Given the description of an element on the screen output the (x, y) to click on. 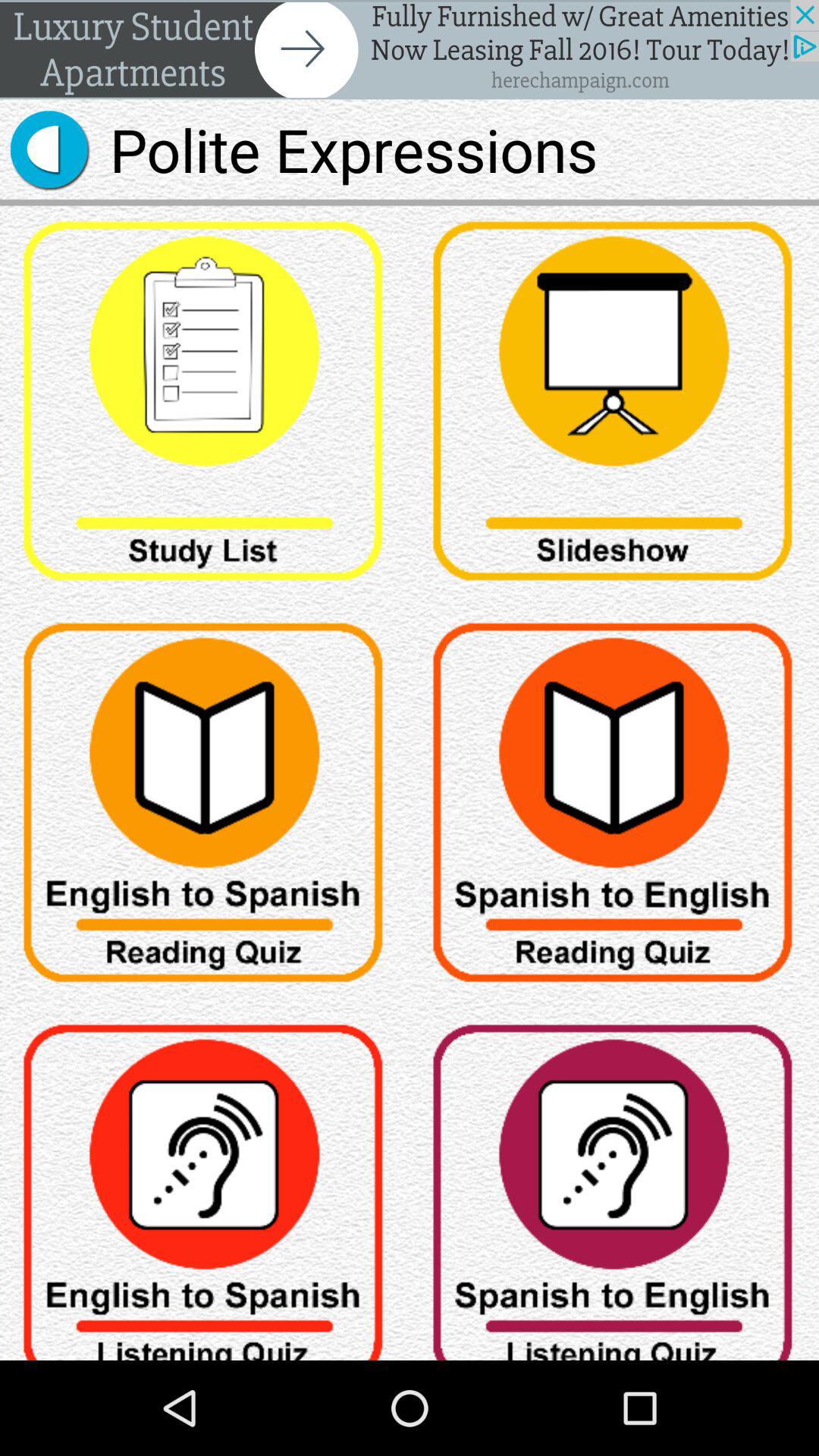
addvadisment (409, 49)
